Given the description of an element on the screen output the (x, y) to click on. 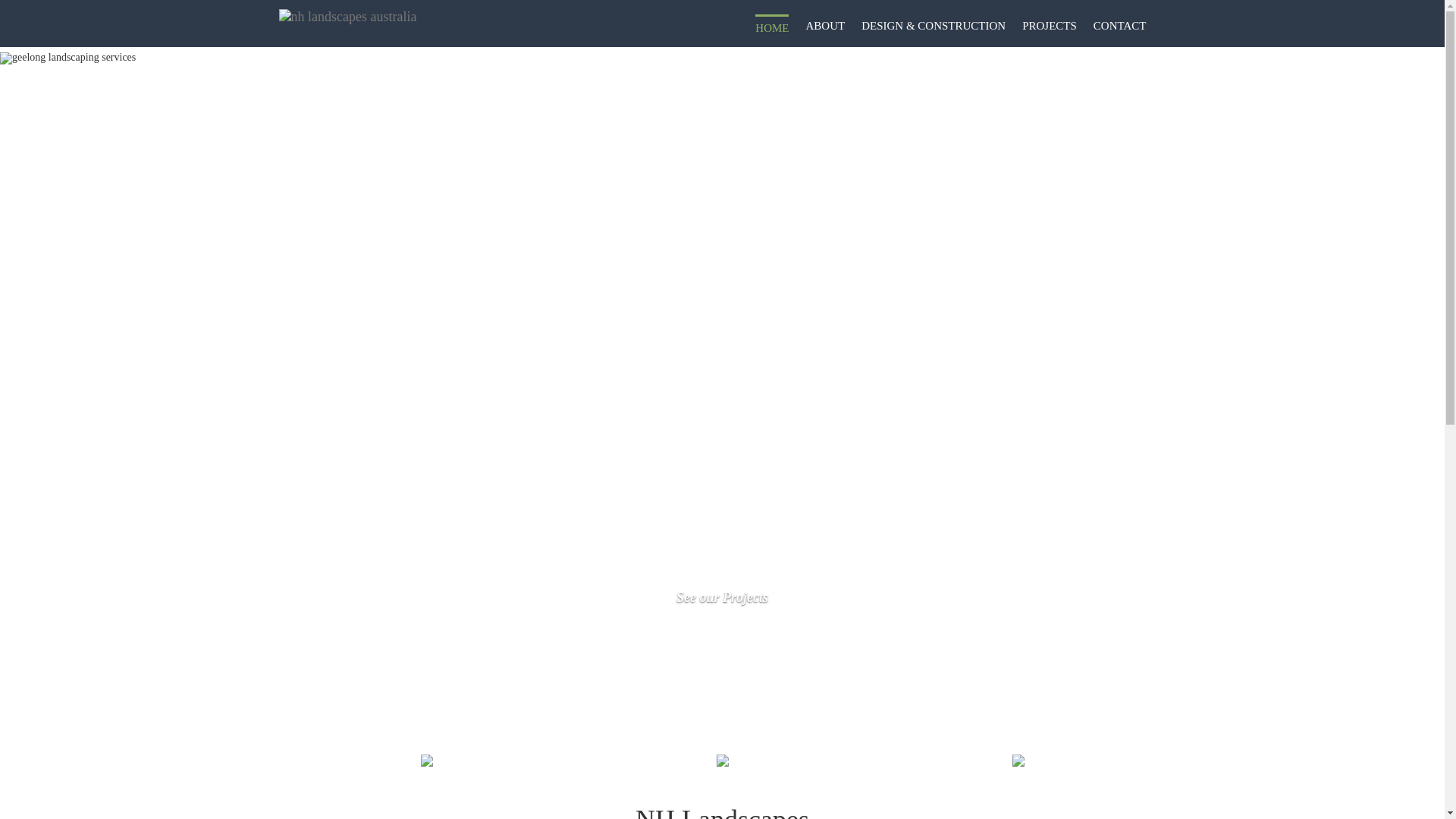
NH Lanscapes Australia Element type: hover (348, 16)
See our Projects Element type: text (722, 597)
ABOUT Element type: text (824, 25)
CONTACT Element type: text (1119, 25)
PROJECTS Element type: text (1049, 25)
DESIGN & CONSTRUCTION Element type: text (933, 25)
HOME Element type: text (771, 26)
